Given the description of an element on the screen output the (x, y) to click on. 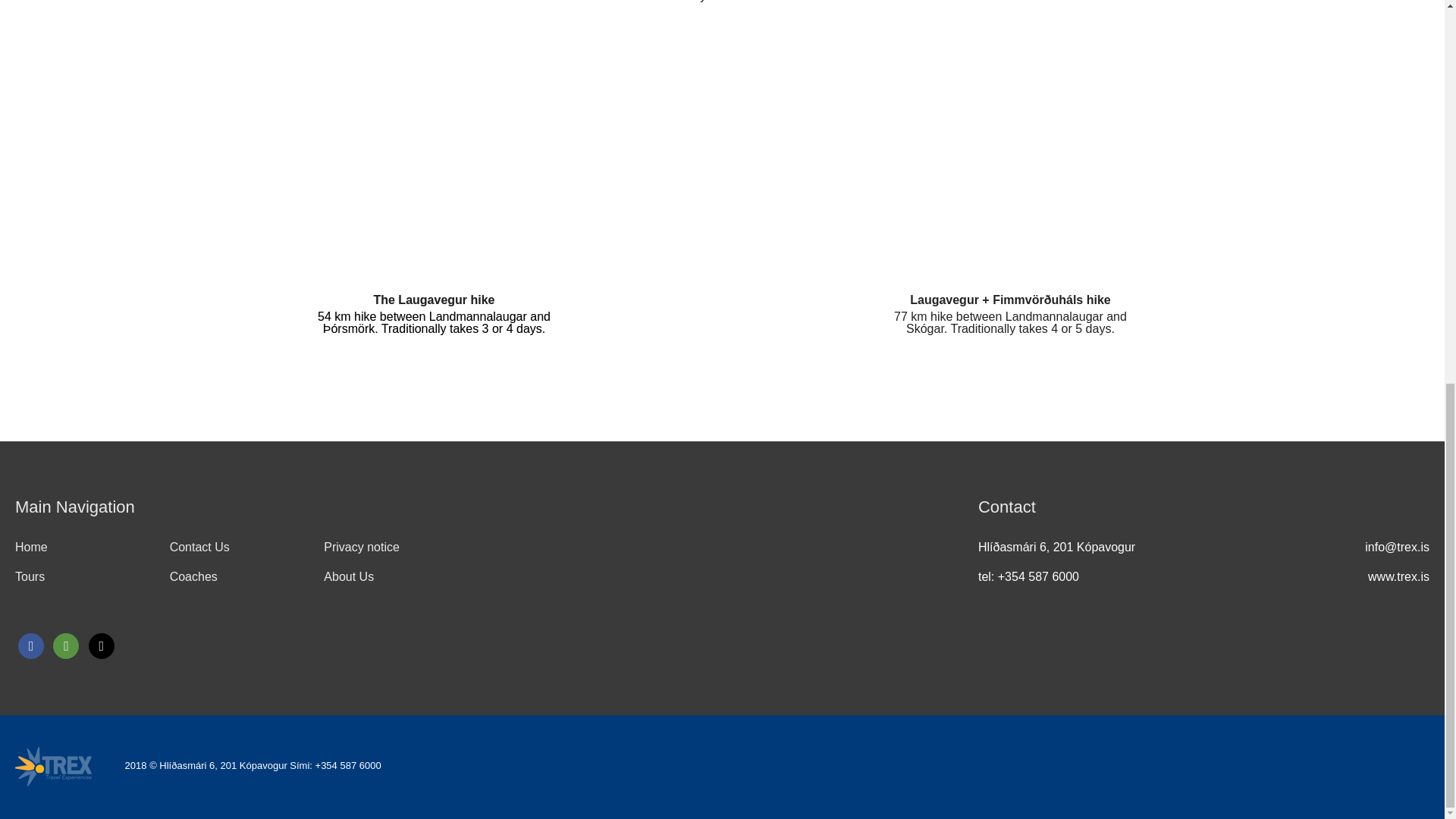
About Us (348, 576)
The Laugavegur hike (433, 299)
Tours (29, 576)
Contact Us (200, 546)
Home (31, 546)
Coaches (193, 576)
Privacy notice (360, 546)
